Given the description of an element on the screen output the (x, y) to click on. 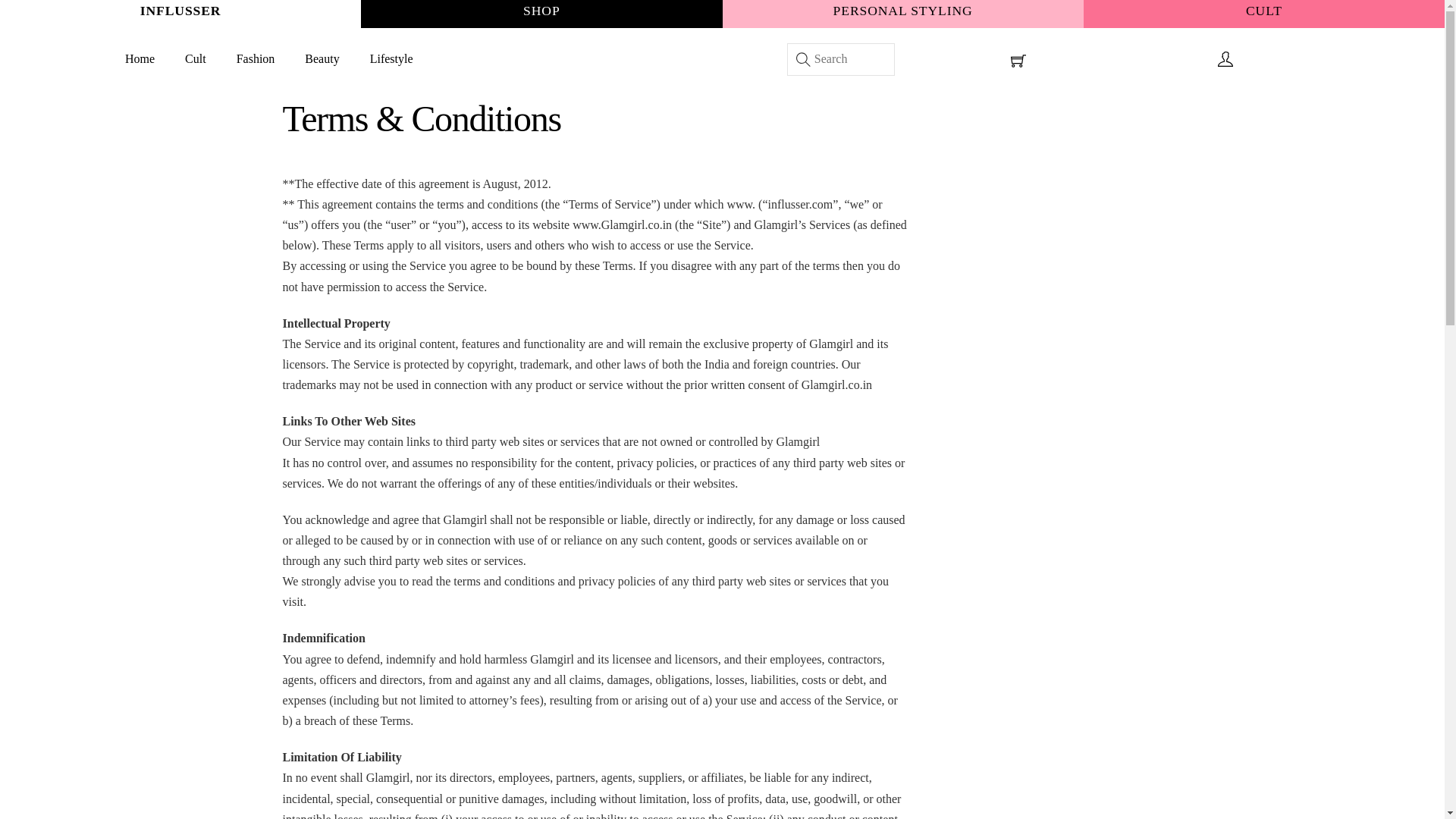
SHOP (541, 10)
CULT (1264, 10)
Cult (195, 59)
Home (140, 59)
Beauty (321, 59)
INFLUSSER (180, 10)
Fashion (255, 59)
PERSONAL (871, 10)
Search (841, 59)
Lifestyle (391, 59)
